Given the description of an element on the screen output the (x, y) to click on. 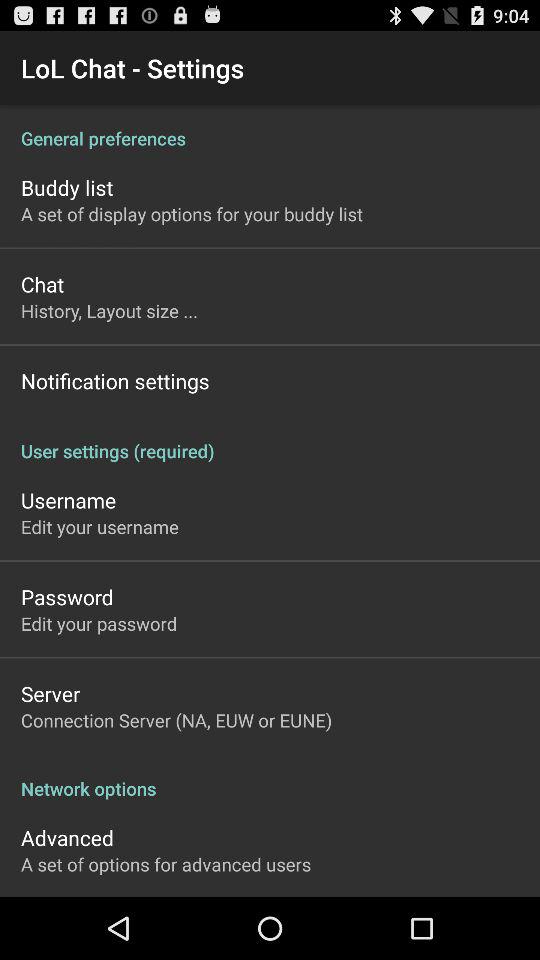
open the history, layout size ... (109, 310)
